Given the description of an element on the screen output the (x, y) to click on. 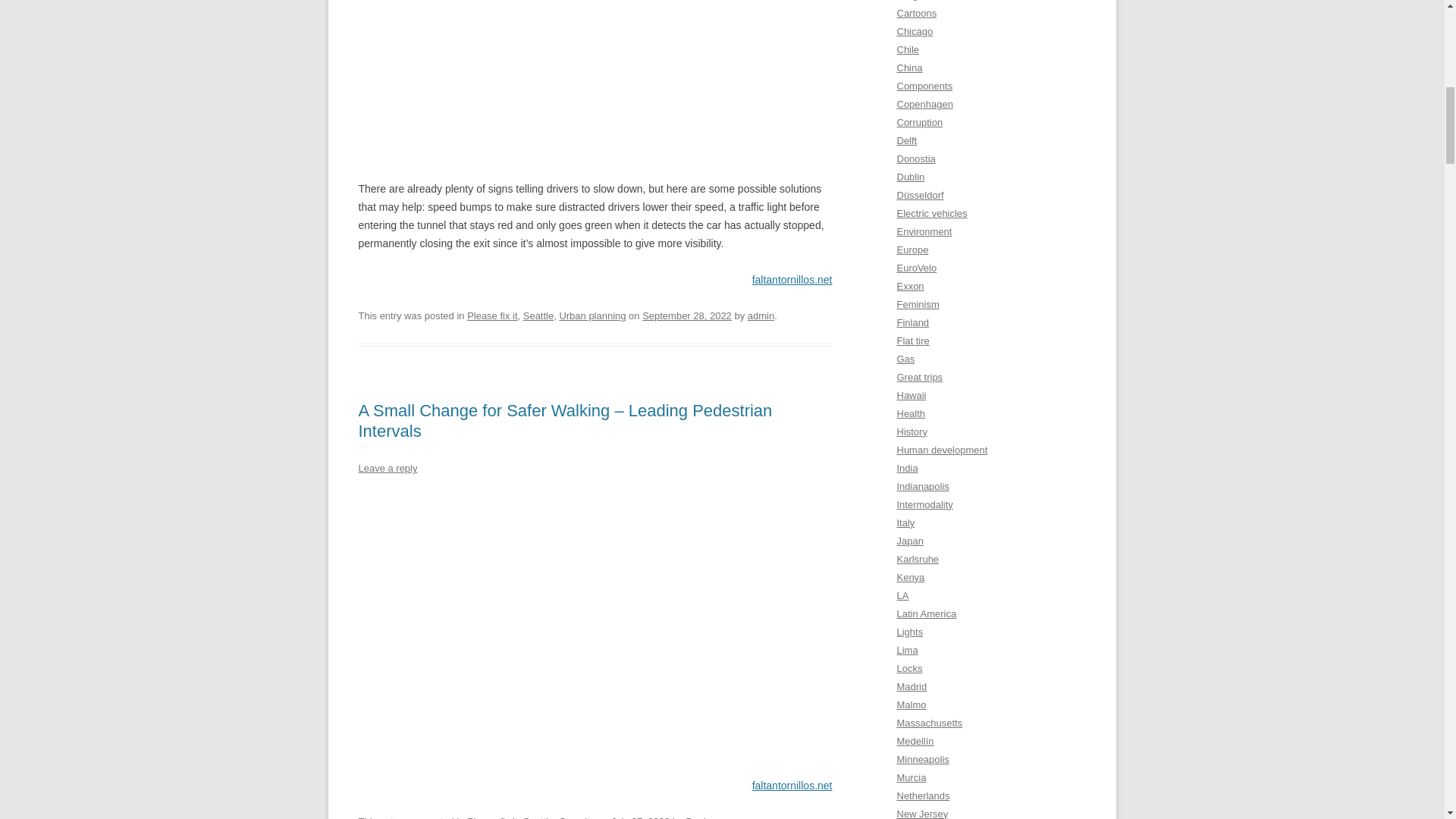
Please fix it (491, 817)
View all posts by admin (761, 315)
YouTube video player (595, 69)
12:00 am (640, 817)
Seattle (537, 817)
admin (761, 315)
faltantornillos.net (792, 785)
September 28, 2022 (687, 315)
Please fix it (491, 315)
Seattle (537, 315)
Urban planning (592, 315)
Dani (695, 817)
Security (576, 817)
faltantornillos.net (792, 279)
View all posts by Dani (695, 817)
